Given the description of an element on the screen output the (x, y) to click on. 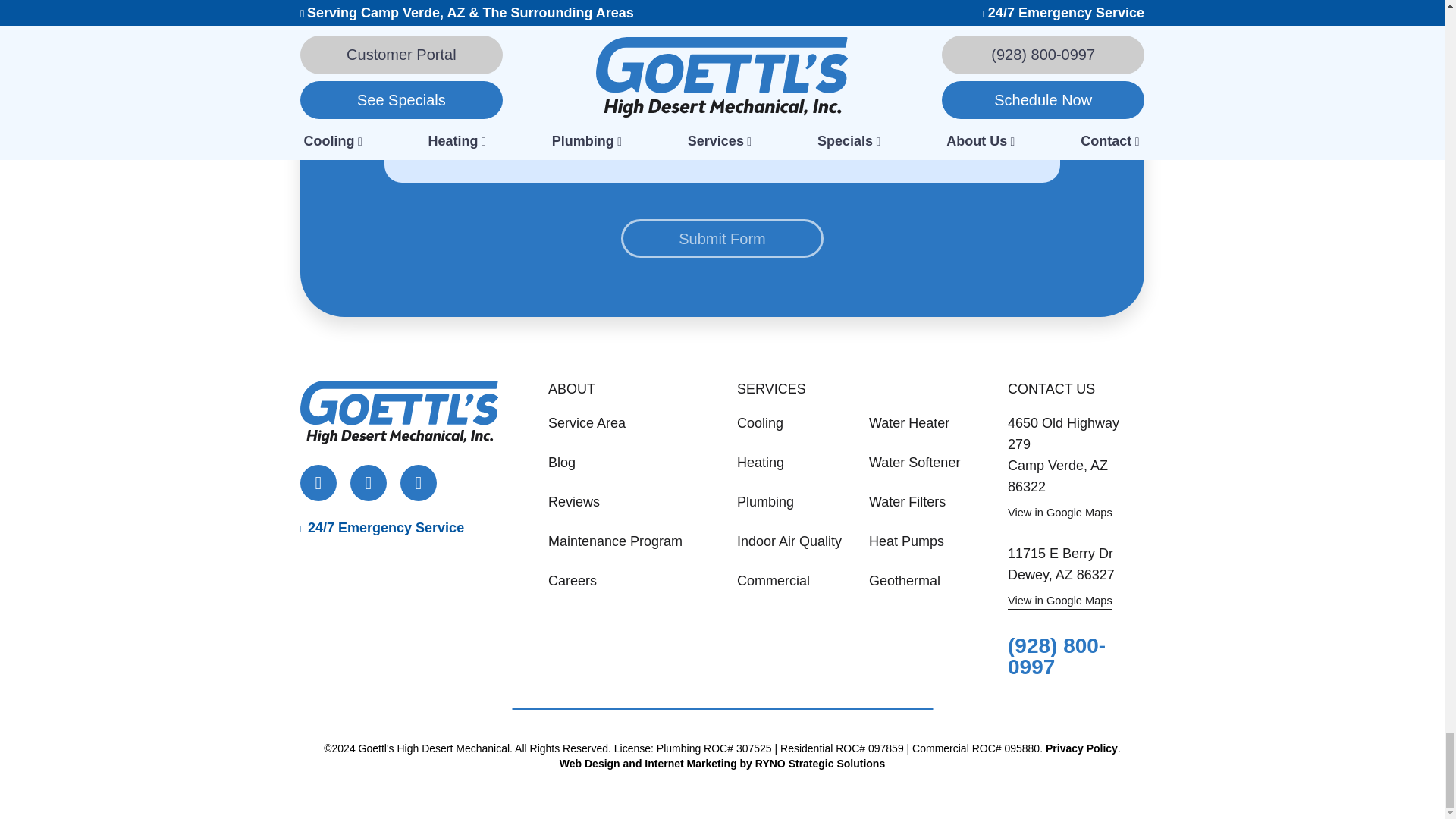
Goettl's High Desert Mechanical (398, 412)
